Given the description of an element on the screen output the (x, y) to click on. 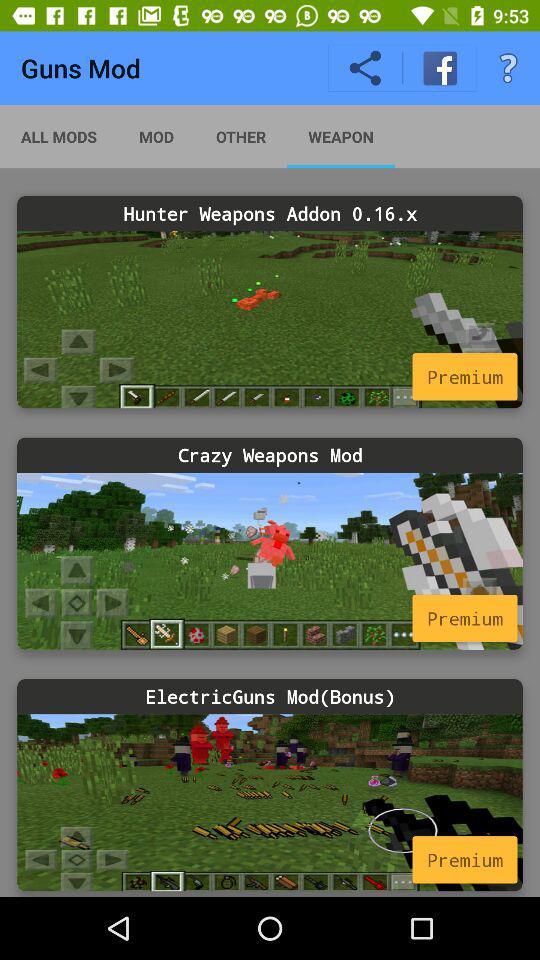
launch item above hunter weapons addon item (240, 136)
